Given the description of an element on the screen output the (x, y) to click on. 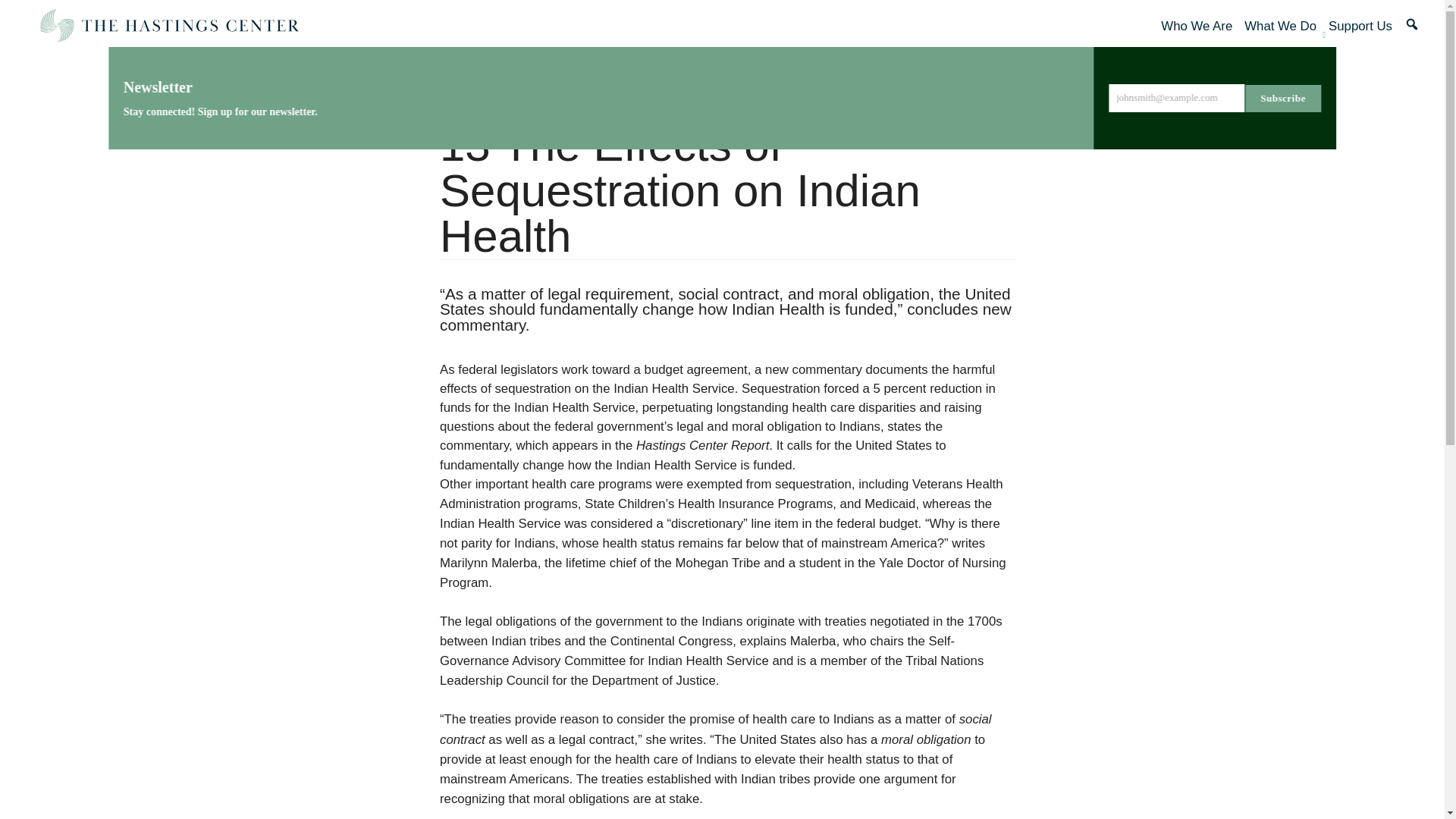
What We Do (1280, 26)
The Hastings Center (168, 26)
Support Us (1359, 26)
Who We Are (1195, 26)
